Given the description of an element on the screen output the (x, y) to click on. 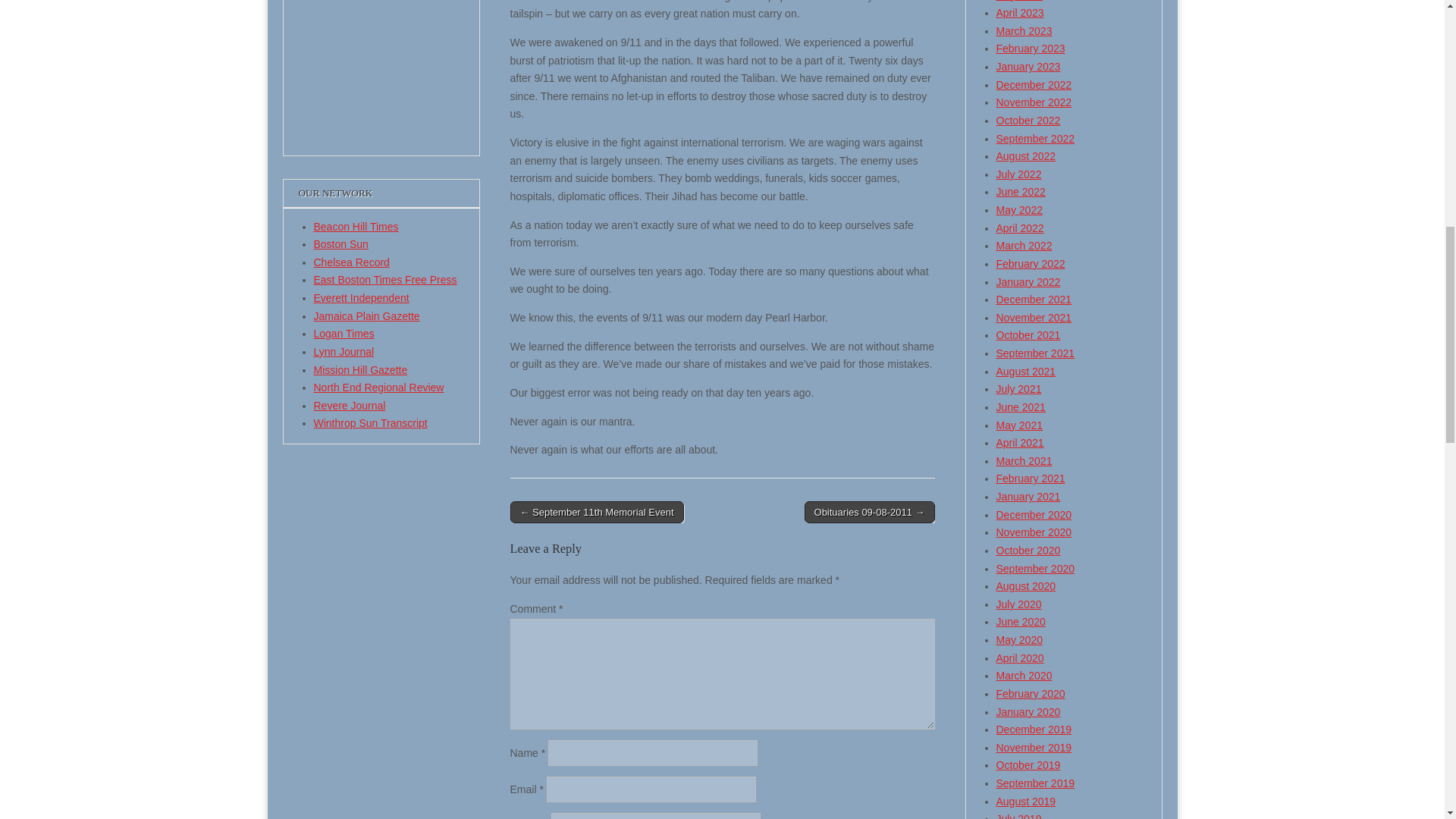
Revere Journal (349, 405)
Chelsea Record (352, 262)
Mission Hill Gazette (360, 369)
Jamaica Plain Gazette (367, 316)
East Boston Times Free Press (385, 279)
Logan Times (344, 333)
Beacon Hill Times (356, 226)
Winthrop Sun Transcript (371, 422)
Lynn Journal (344, 351)
Boston Sun (341, 244)
North End Regional Review (379, 387)
Everett Independent (361, 297)
